Given the description of an element on the screen output the (x, y) to click on. 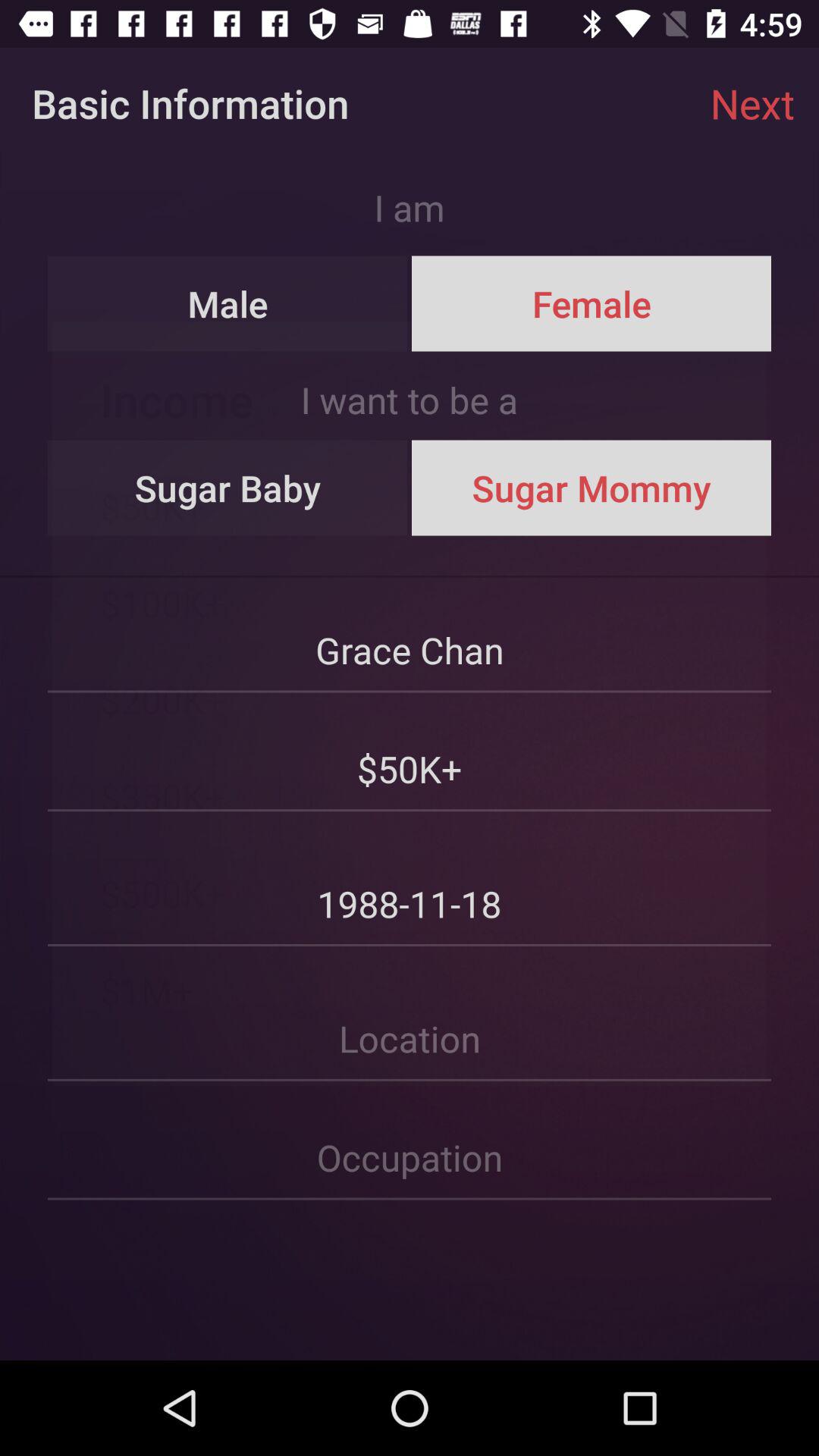
launch next icon (752, 103)
